Given the description of an element on the screen output the (x, y) to click on. 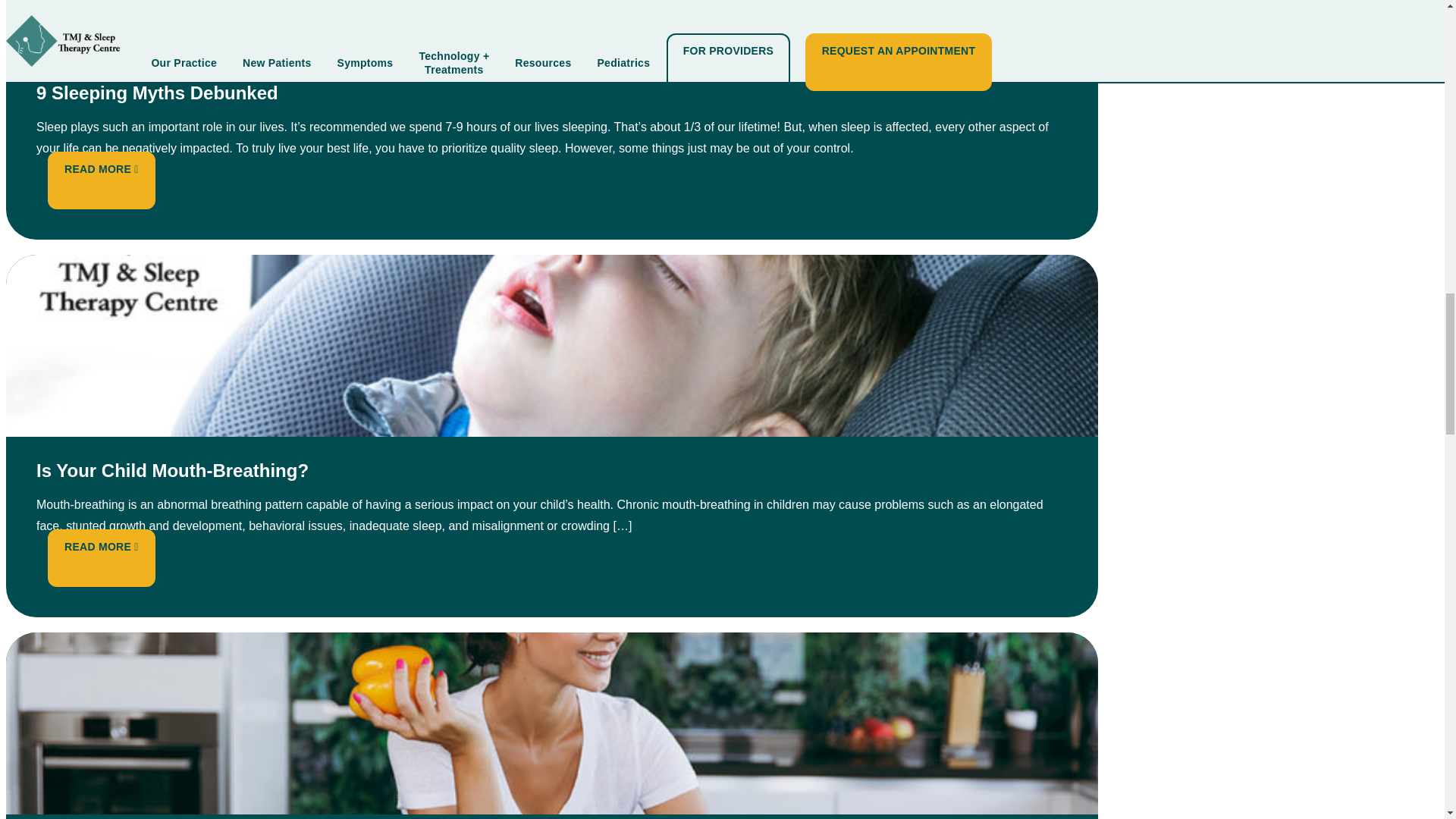
READ MORE (101, 168)
READ MORE (101, 546)
